Given the description of an element on the screen output the (x, y) to click on. 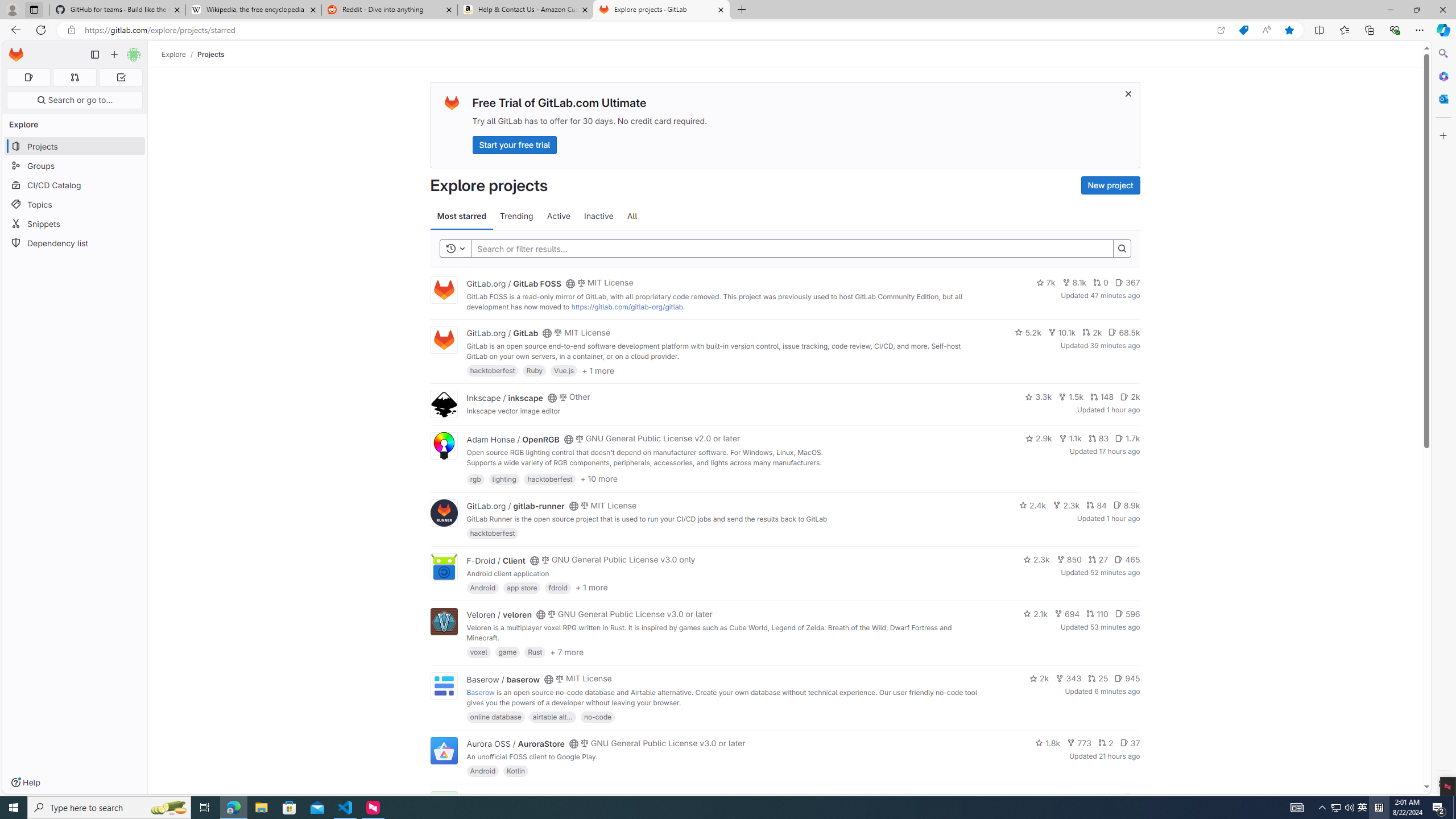
Topics (74, 203)
Inactive (598, 216)
Explore/ (179, 53)
+ 10 more (599, 478)
1.1k (1069, 438)
Projects (211, 53)
Toggle history (455, 248)
voxel (478, 651)
6 (1132, 797)
Class: s14 gl-mr-2 (1128, 796)
8.1k (1073, 282)
